Given the description of an element on the screen output the (x, y) to click on. 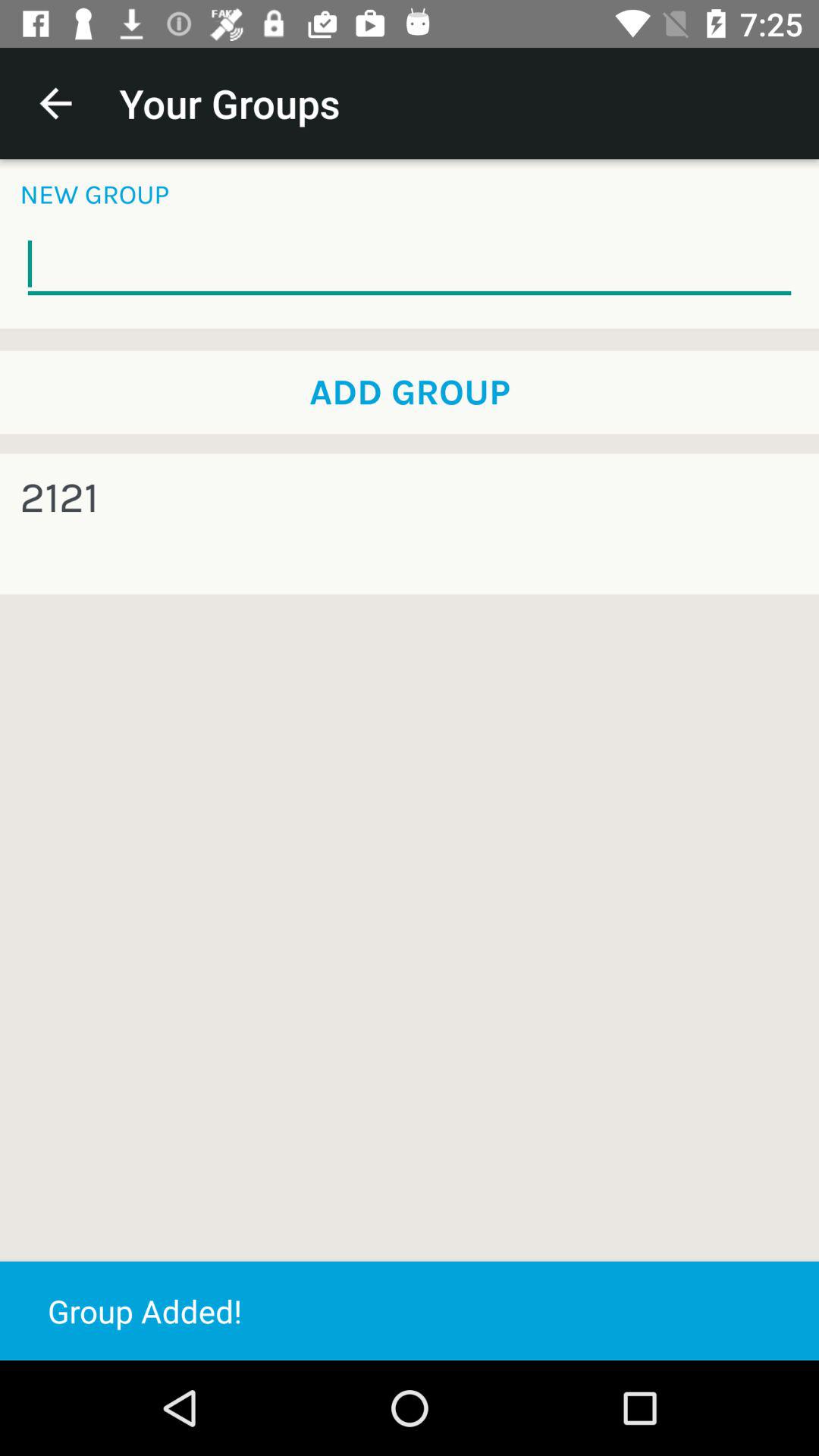
press add group (409, 391)
